Given the description of an element on the screen output the (x, y) to click on. 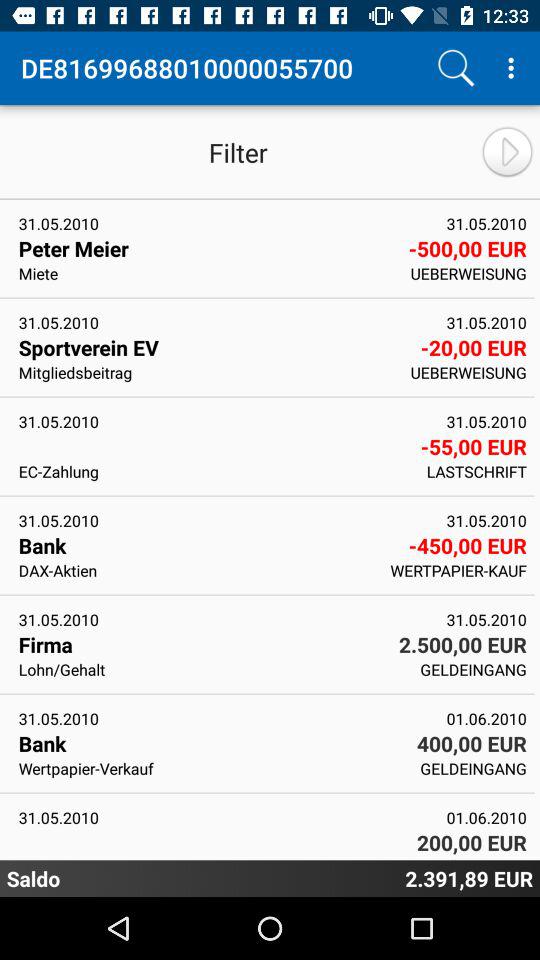
turn on the item next to ueberweisung icon (212, 347)
